Given the description of an element on the screen output the (x, y) to click on. 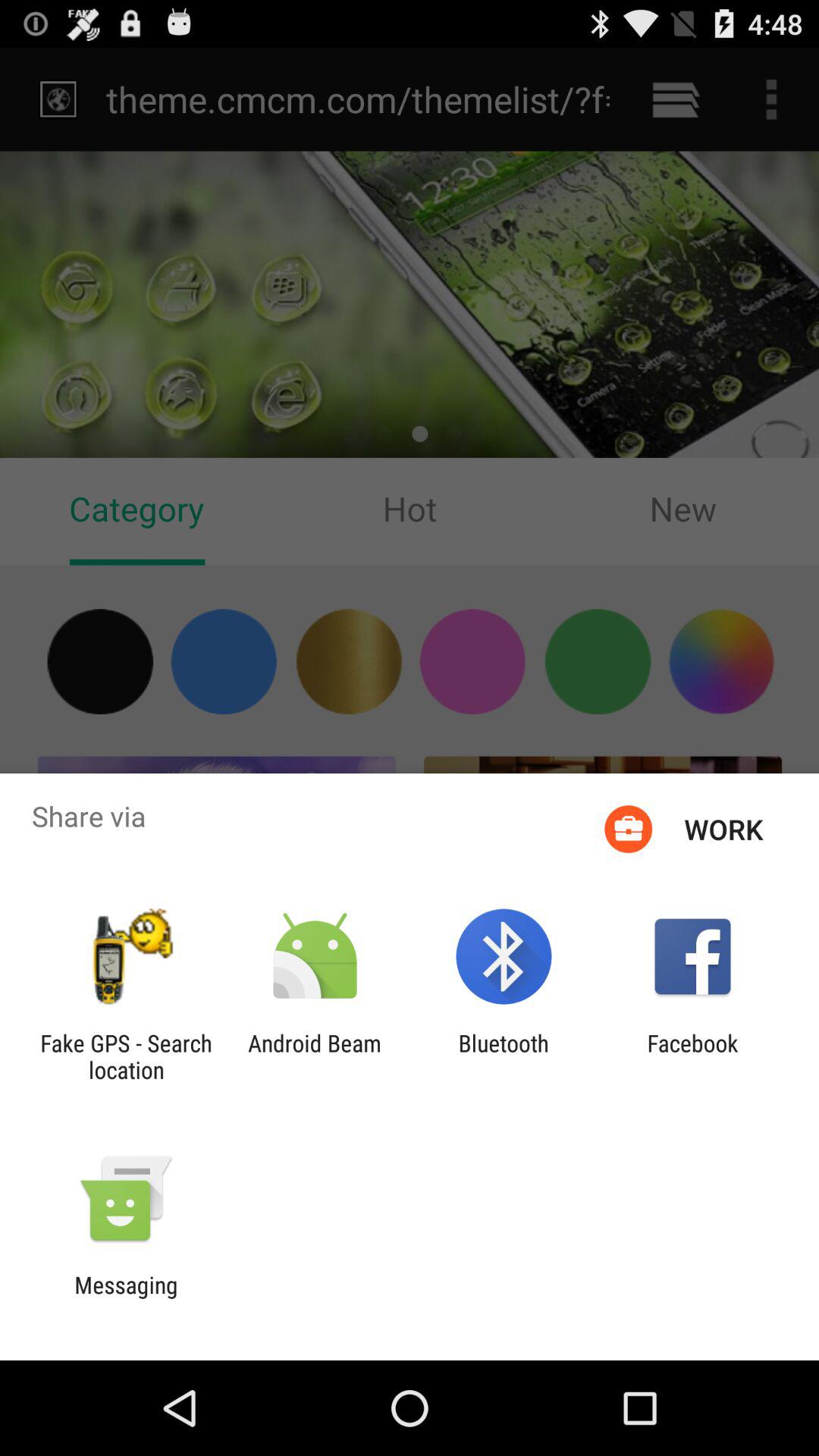
launch the android beam item (314, 1056)
